Given the description of an element on the screen output the (x, y) to click on. 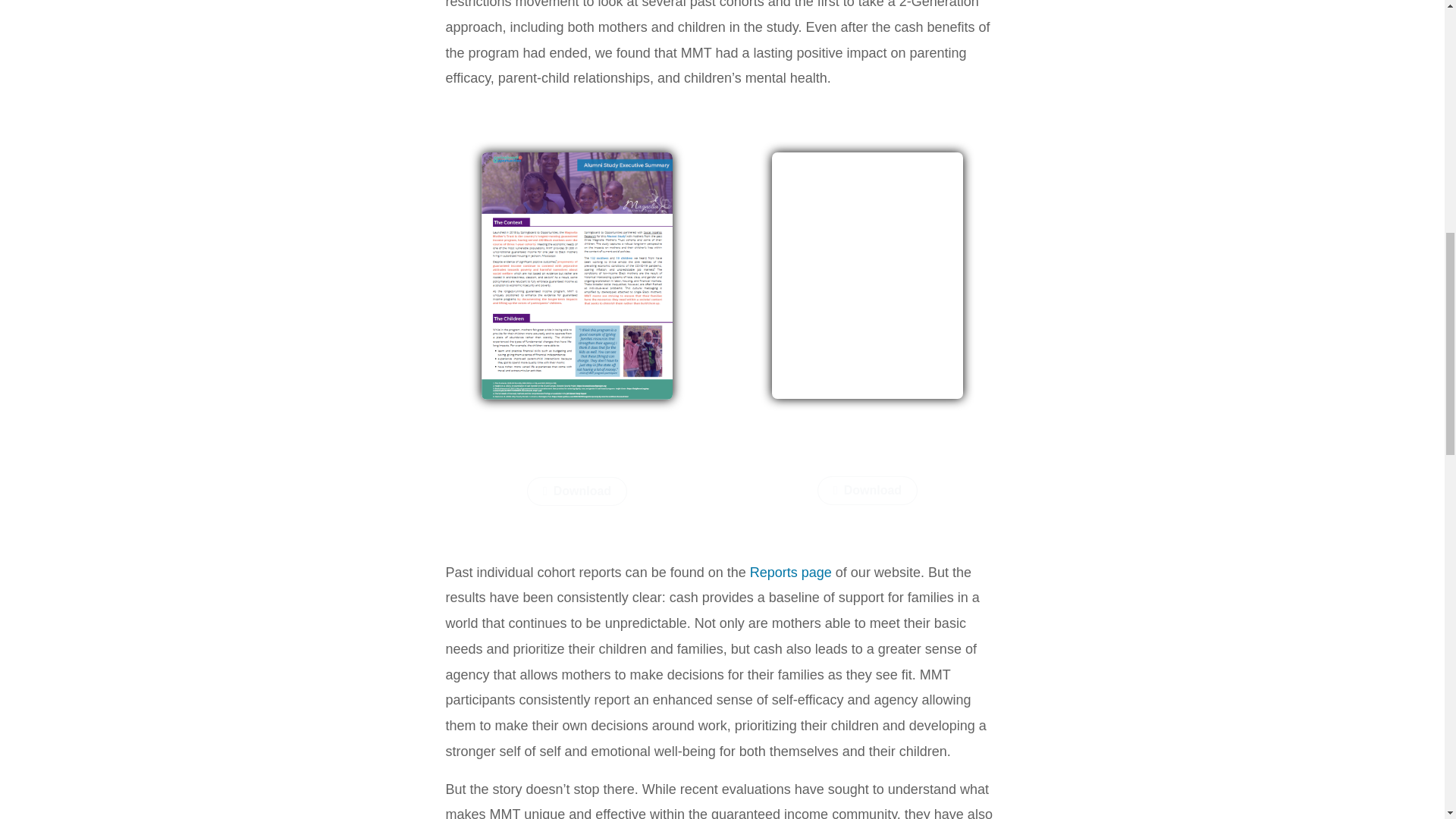
Reports page (790, 572)
Download (866, 490)
Download (577, 491)
